Given the description of an element on the screen output the (x, y) to click on. 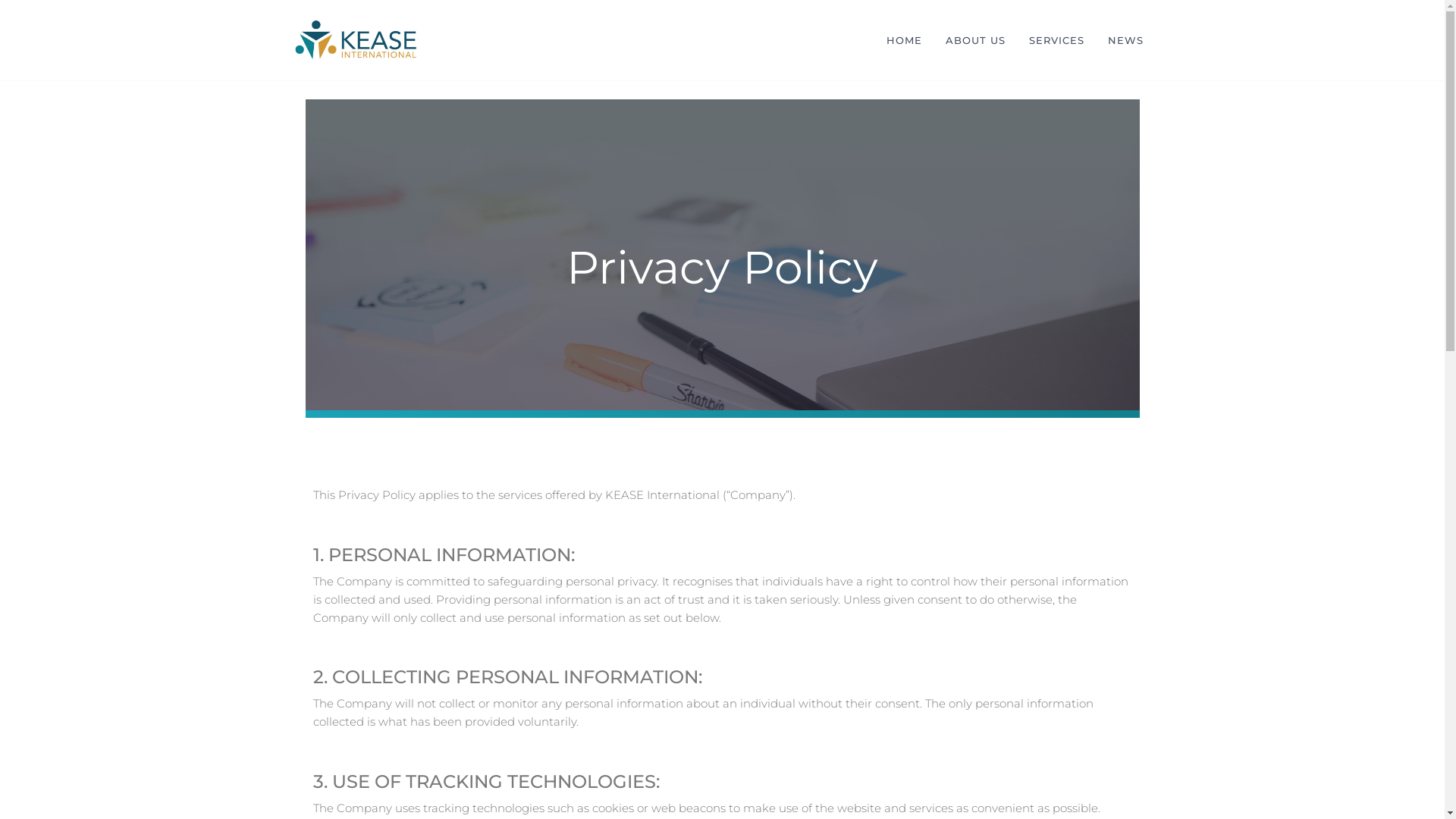
SERVICES Element type: text (1056, 39)
ABOUT US Element type: text (975, 39)
NEWS Element type: text (1125, 39)
HOME Element type: text (904, 39)
